Given the description of an element on the screen output the (x, y) to click on. 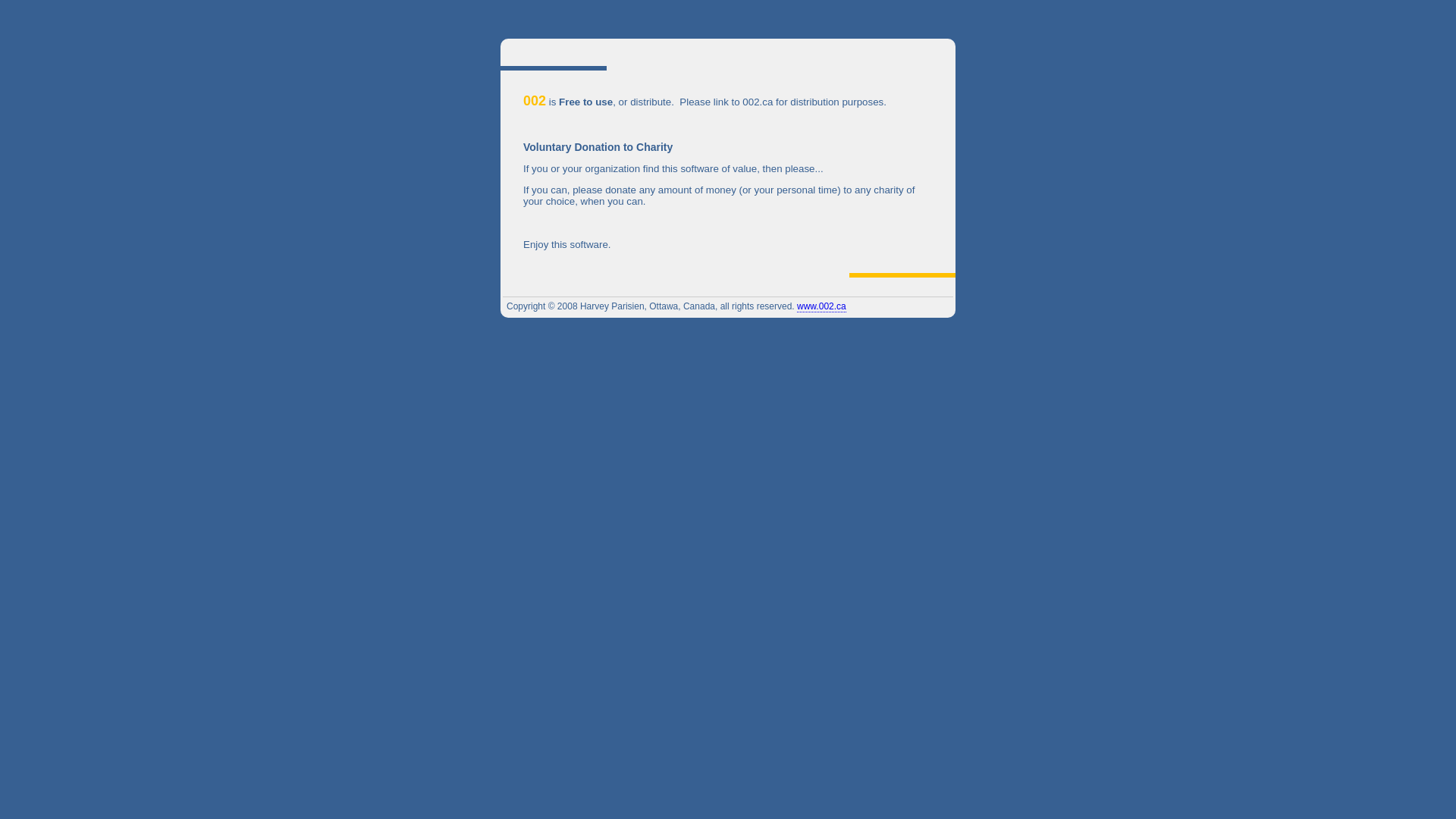
www.002.ca Element type: text (821, 306)
